Given the description of an element on the screen output the (x, y) to click on. 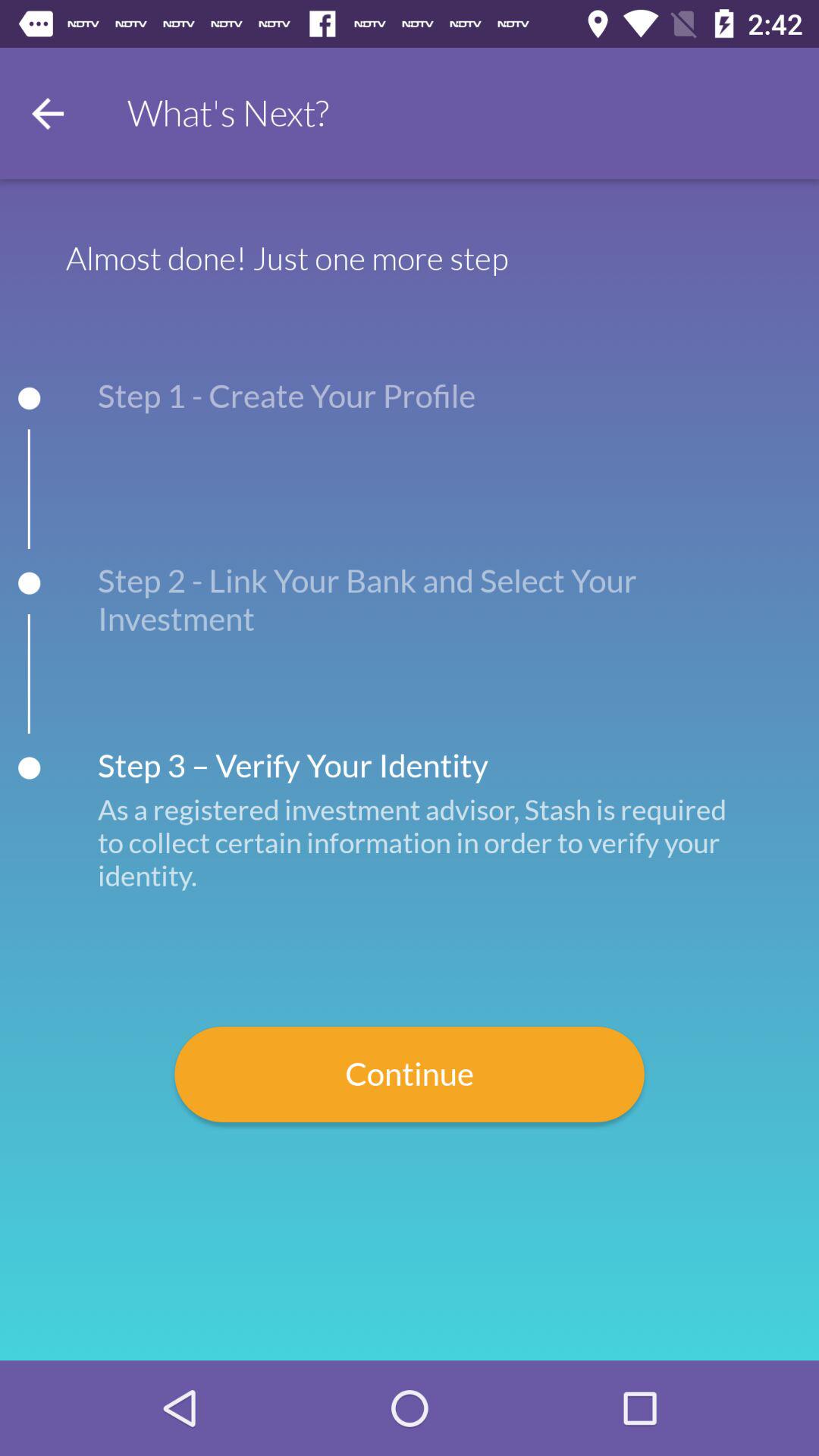
go back (47, 113)
